Given the description of an element on the screen output the (x, y) to click on. 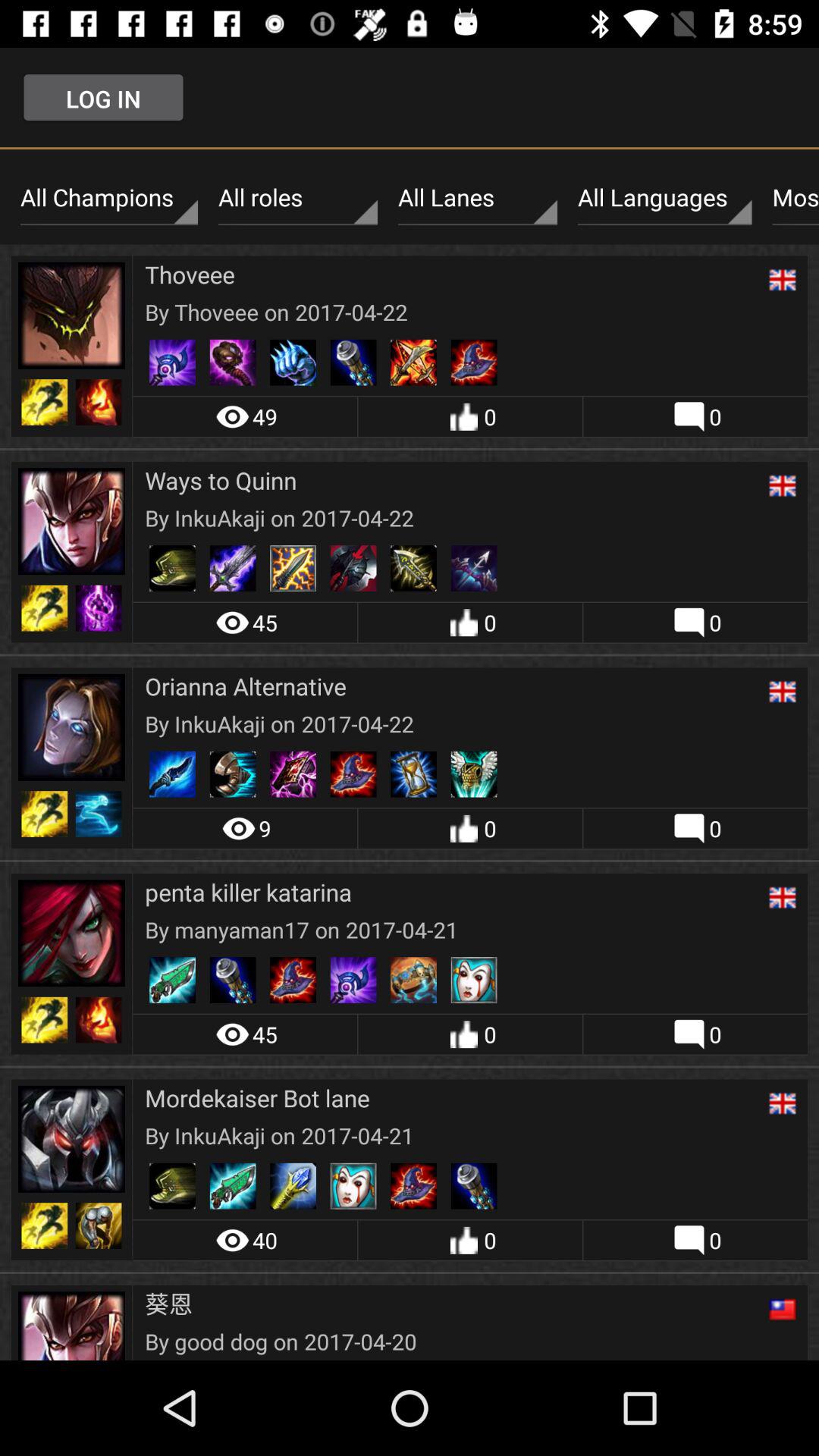
choose the item next to the most recent (664, 198)
